Given the description of an element on the screen output the (x, y) to click on. 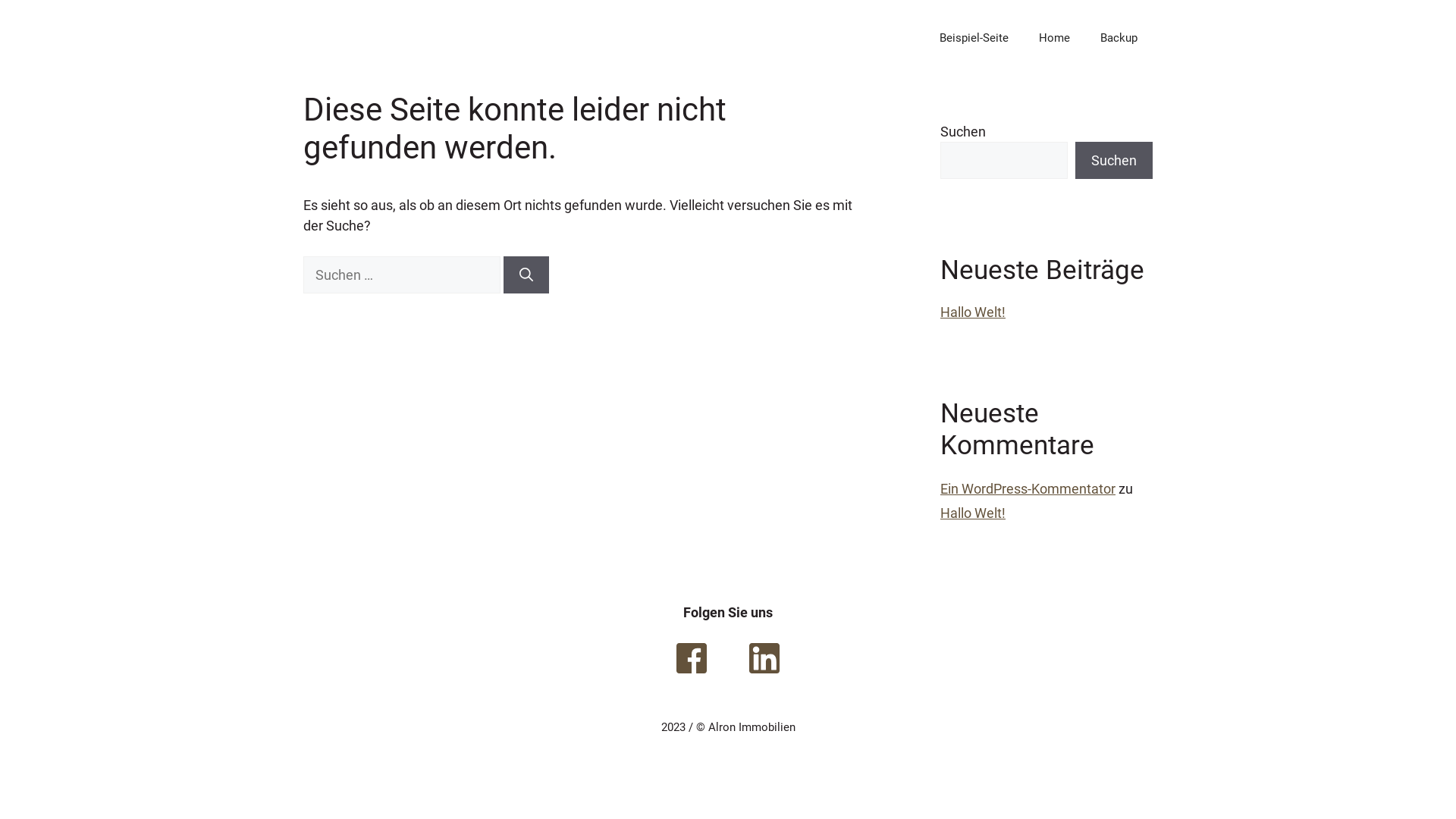
Beispiel-Seite Element type: text (973, 37)
Suchen Element type: text (1113, 159)
Home Element type: text (1054, 37)
Hallo Welt! Element type: text (972, 312)
Suche nach: Element type: hover (401, 274)
Hallo Welt! Element type: text (972, 512)
Backup Element type: text (1118, 37)
Ein WordPress-Kommentator Element type: text (1027, 488)
